Given the description of an element on the screen output the (x, y) to click on. 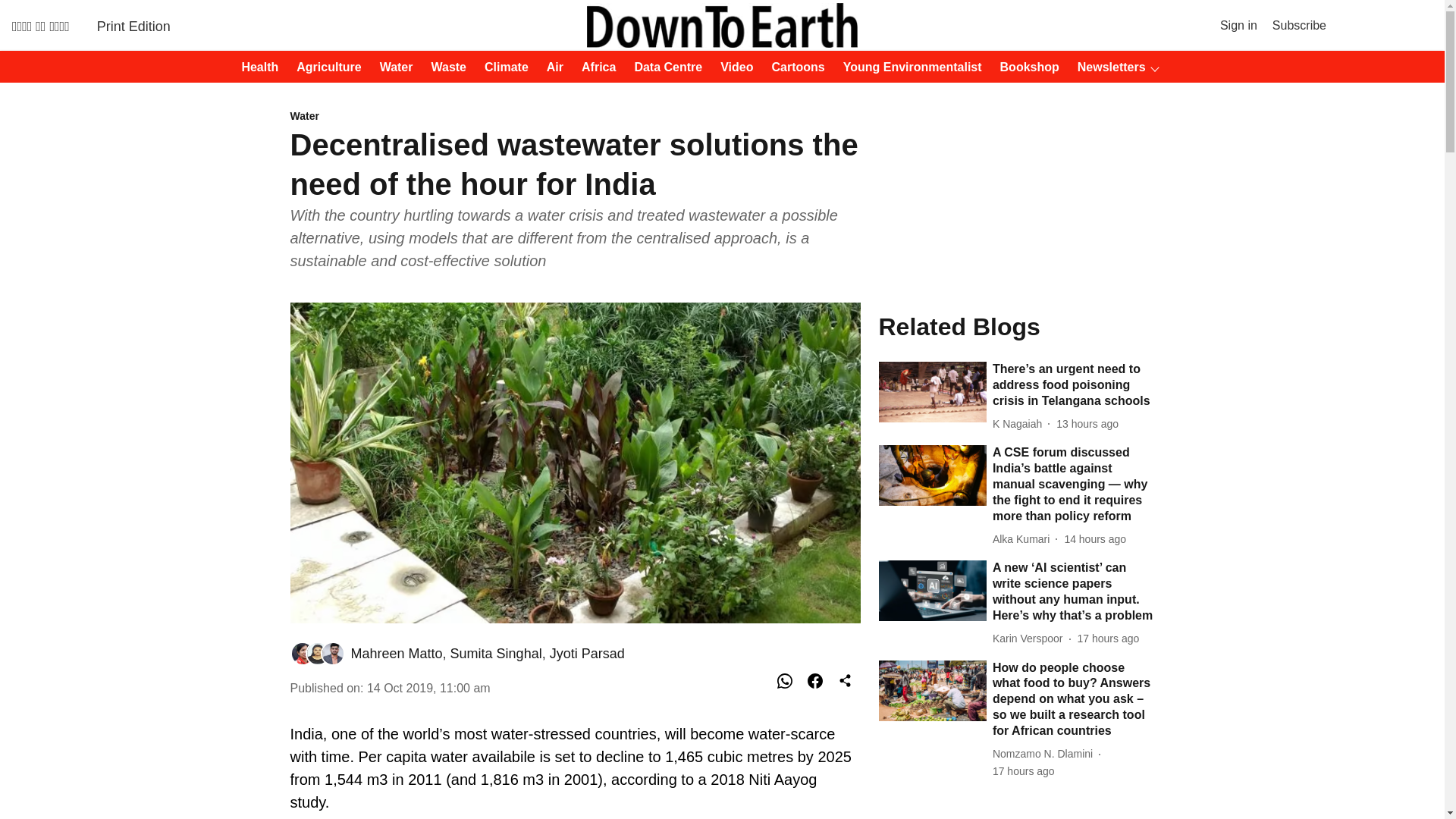
Cartoons (793, 67)
Data Centre (662, 67)
Video (731, 67)
Jyoti Parsad (587, 653)
2019-10-14 03:00 (428, 687)
Africa (593, 67)
Waste (443, 67)
Print Edition (133, 26)
Mahreen Matto (396, 653)
Bookshop (1025, 67)
